Given the description of an element on the screen output the (x, y) to click on. 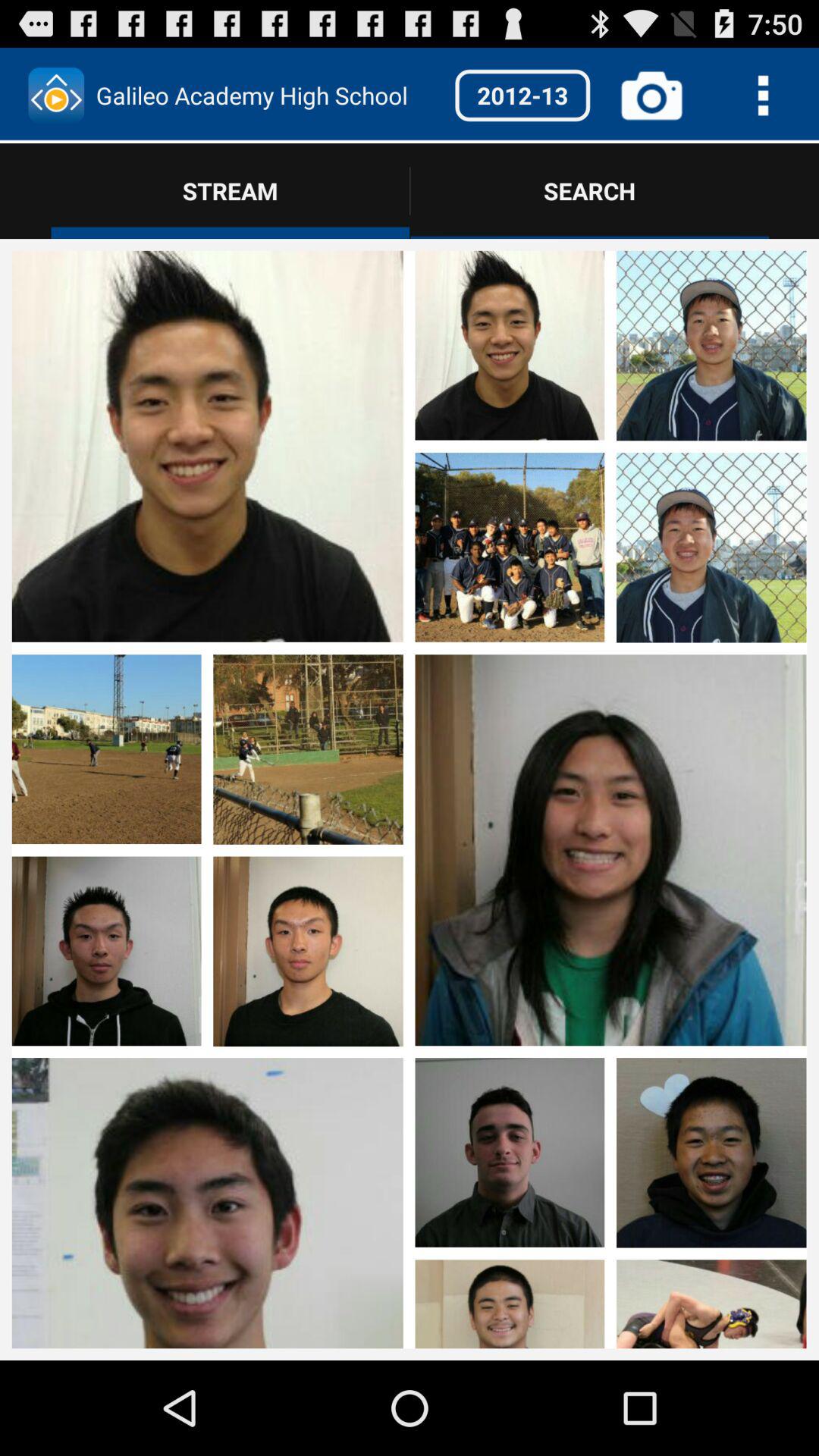
photos page (509, 750)
